Given the description of an element on the screen output the (x, y) to click on. 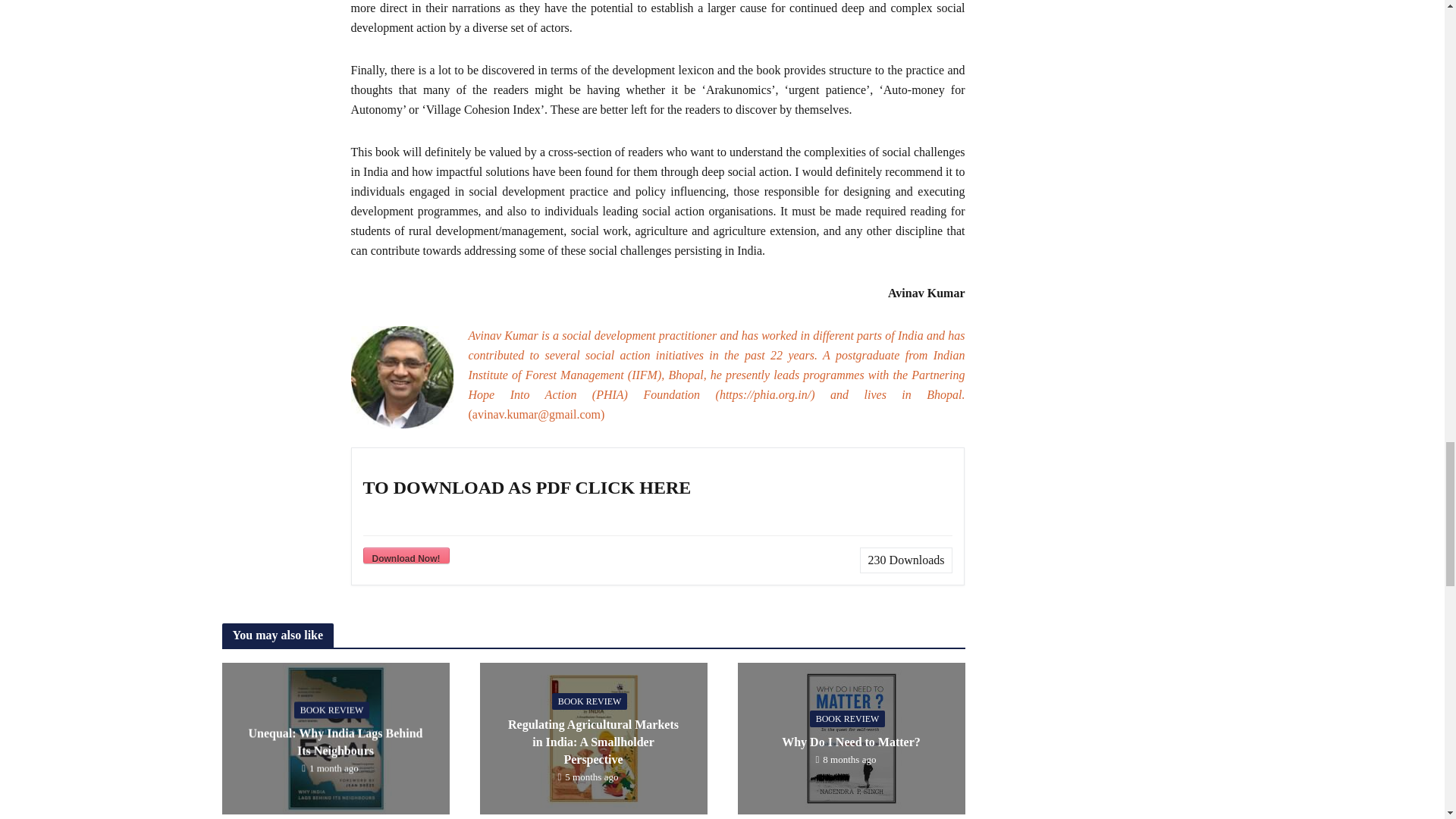
TO DOWNLOAD AS PDF CLICK HERE (405, 555)
Why Do I Need to Matter? (849, 736)
Unequal: Why India Lags Behind Its Neighbours (334, 736)
